Given the description of an element on the screen output the (x, y) to click on. 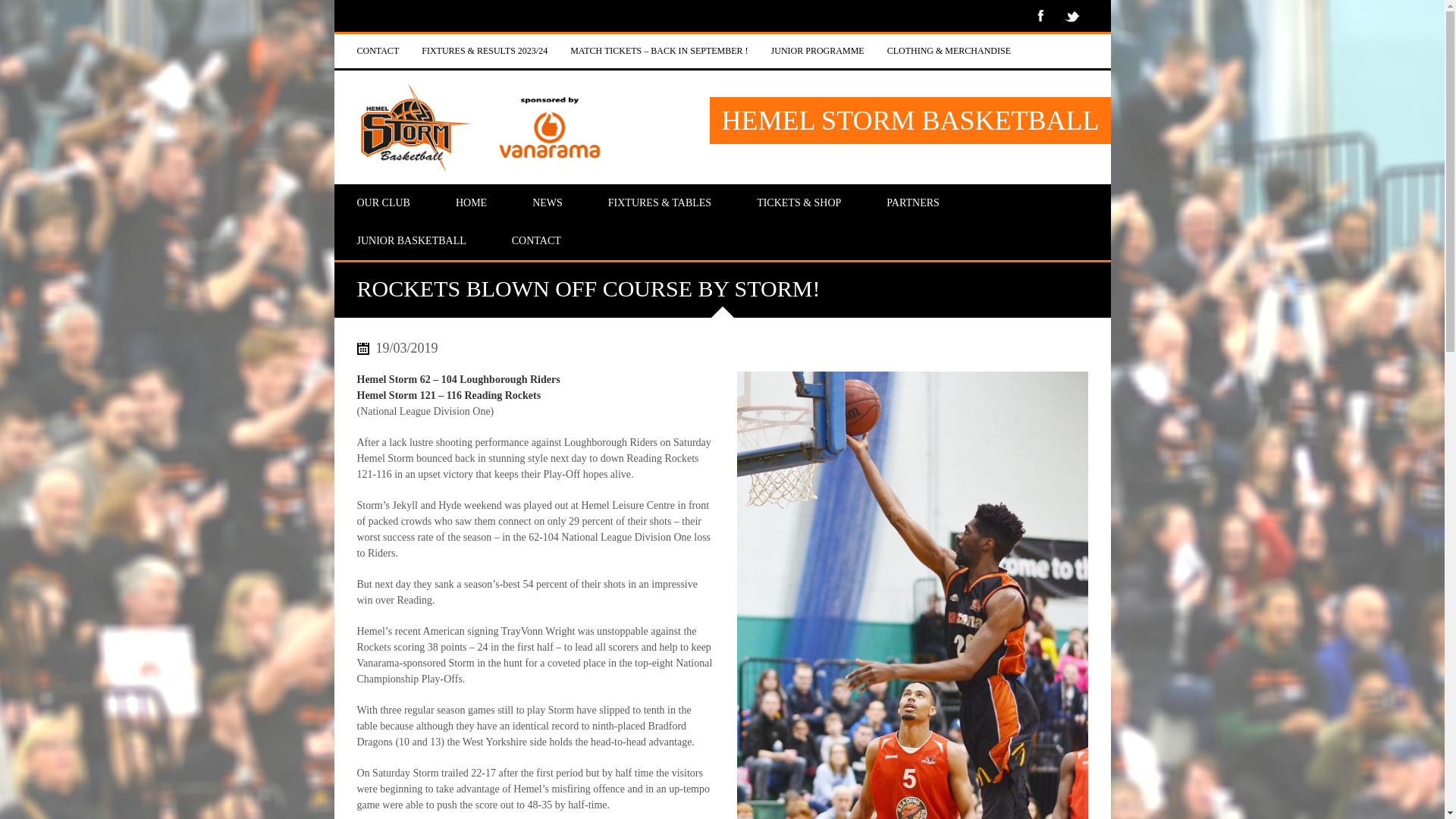
CONTACT (378, 50)
NEWS (547, 202)
HOME (470, 202)
OUR CLUB (382, 202)
JUNIOR PROGRAMME (818, 50)
PARTNERS (911, 202)
